Given the description of an element on the screen output the (x, y) to click on. 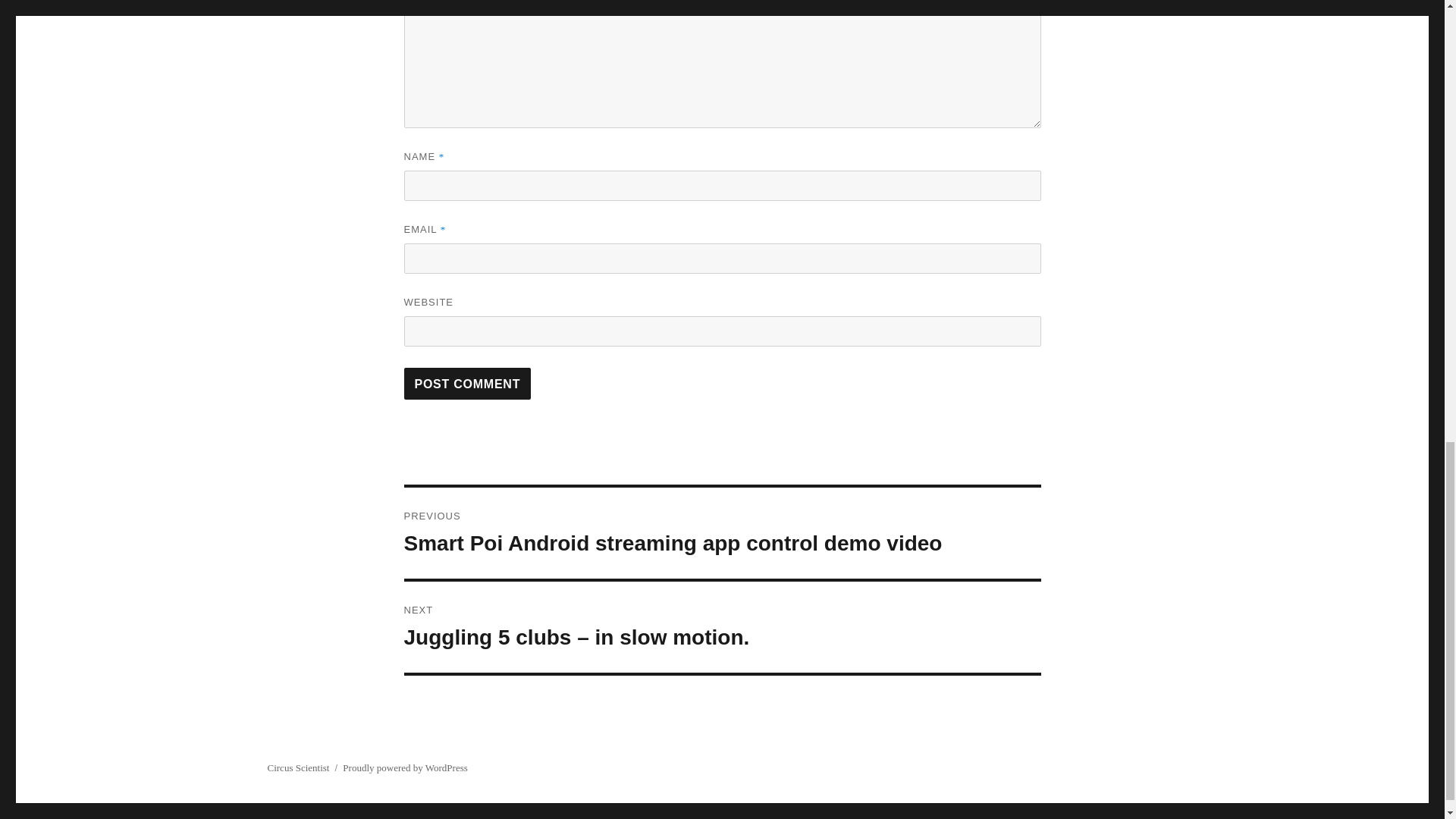
Post Comment (467, 383)
